Given the description of an element on the screen output the (x, y) to click on. 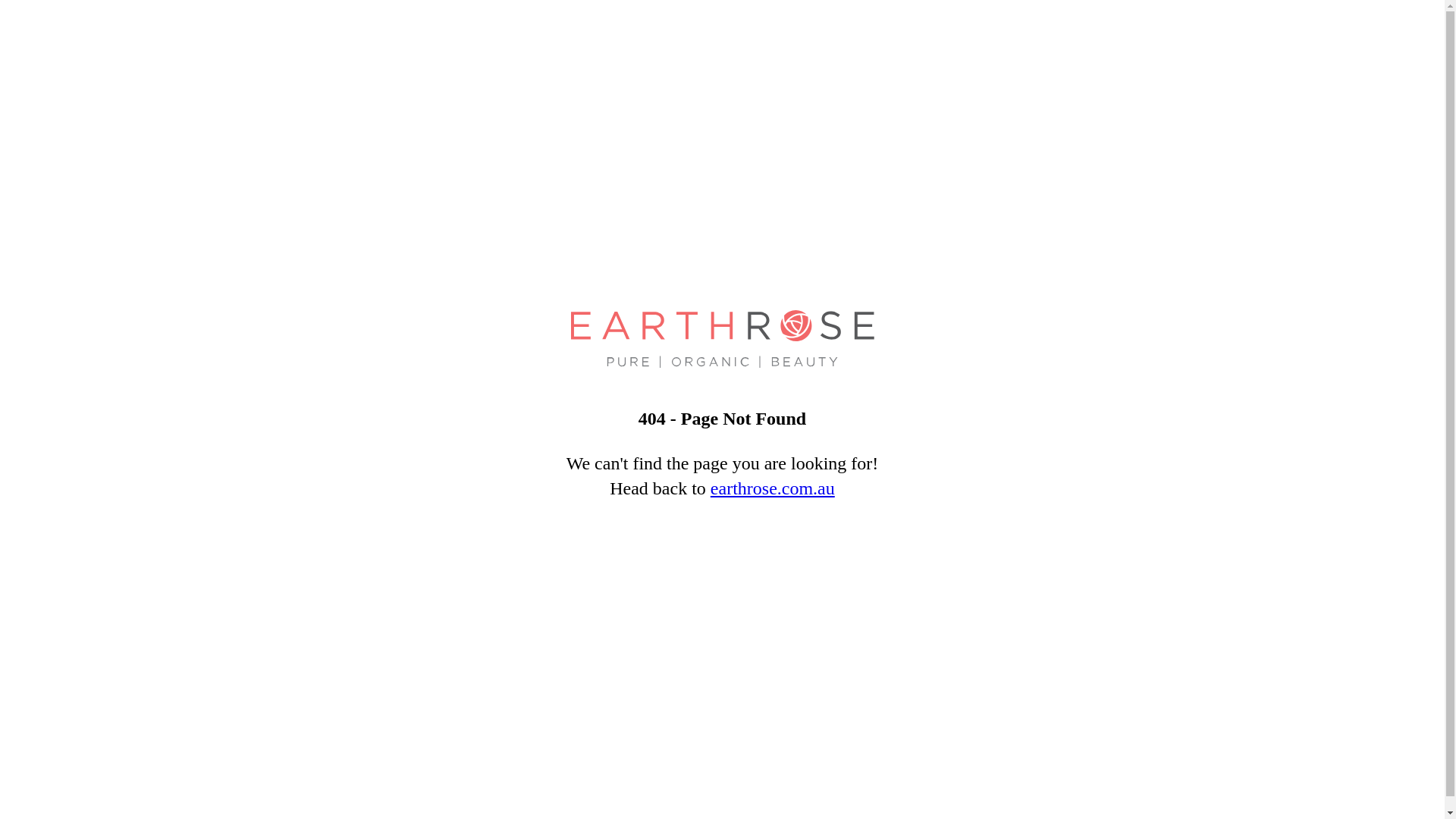
earthrose.com.au Element type: text (772, 489)
